Given the description of an element on the screen output the (x, y) to click on. 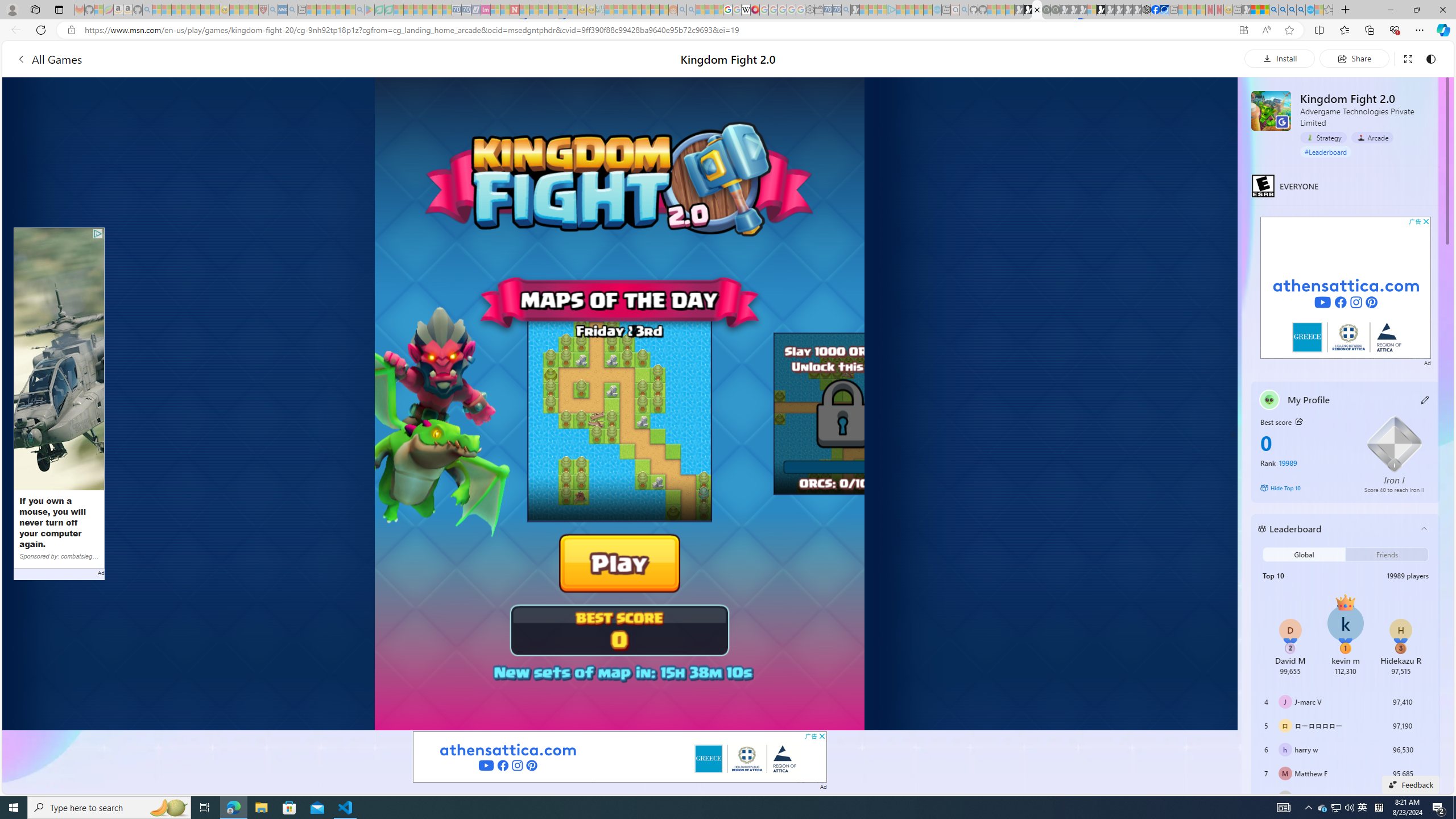
Wallet - Sleeping (818, 9)
github - Search - Sleeping (964, 9)
Sign in to your account - Sleeping (1090, 9)
Address and search bar (658, 29)
Share (1353, 58)
#Leaderboard (1326, 151)
Bluey: Let's Play! - Apps on Google Play - Sleeping (369, 9)
Arcade (1372, 137)
Arcade (1372, 137)
Pets - MSN - Sleeping (340, 9)
